Given the description of an element on the screen output the (x, y) to click on. 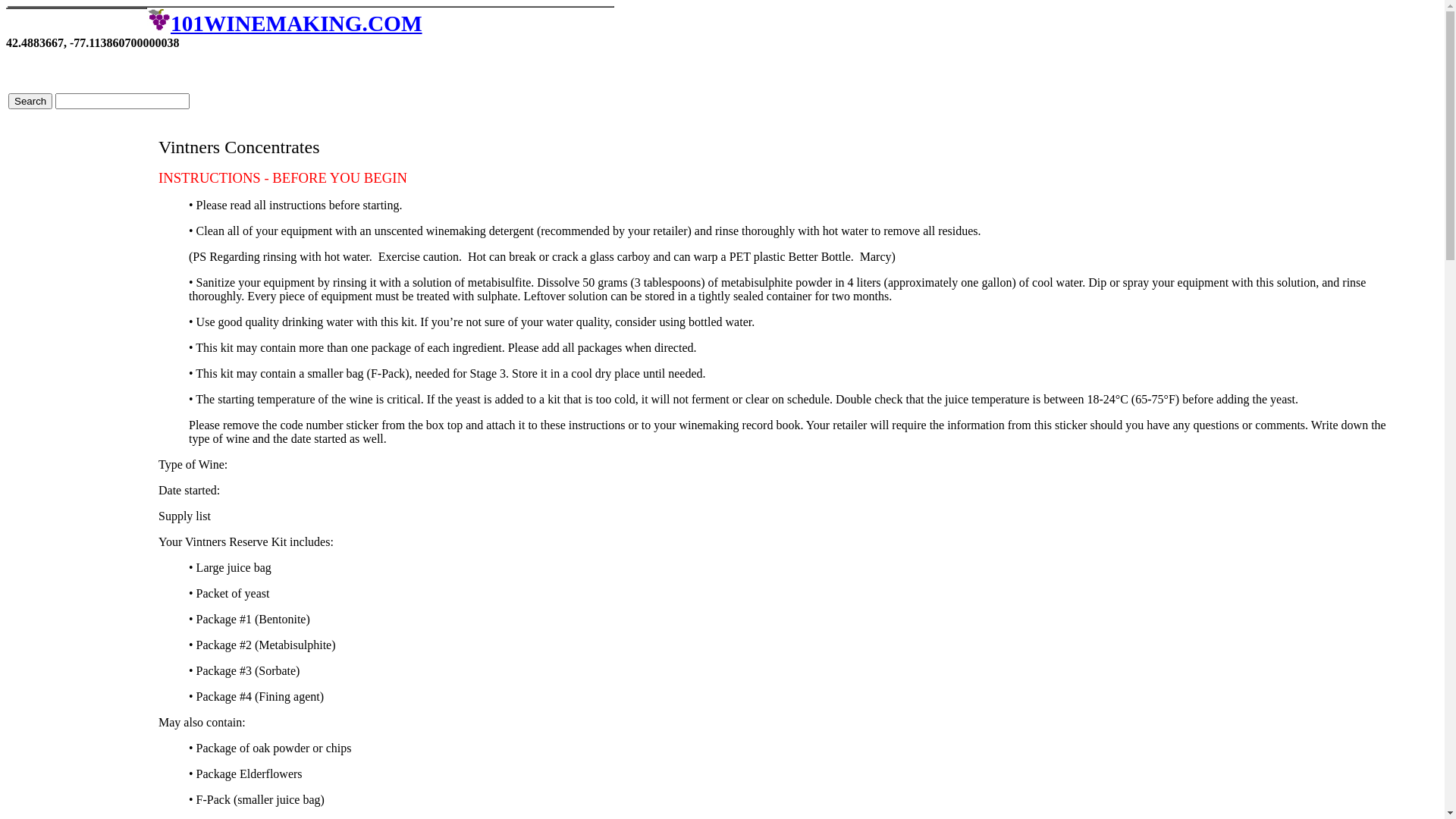
Grapes and more grapes Element type: hover (158, 19)
101WINEMAKING.COM Element type: text (284, 23)
Search Element type: text (30, 101)
